Given the description of an element on the screen output the (x, y) to click on. 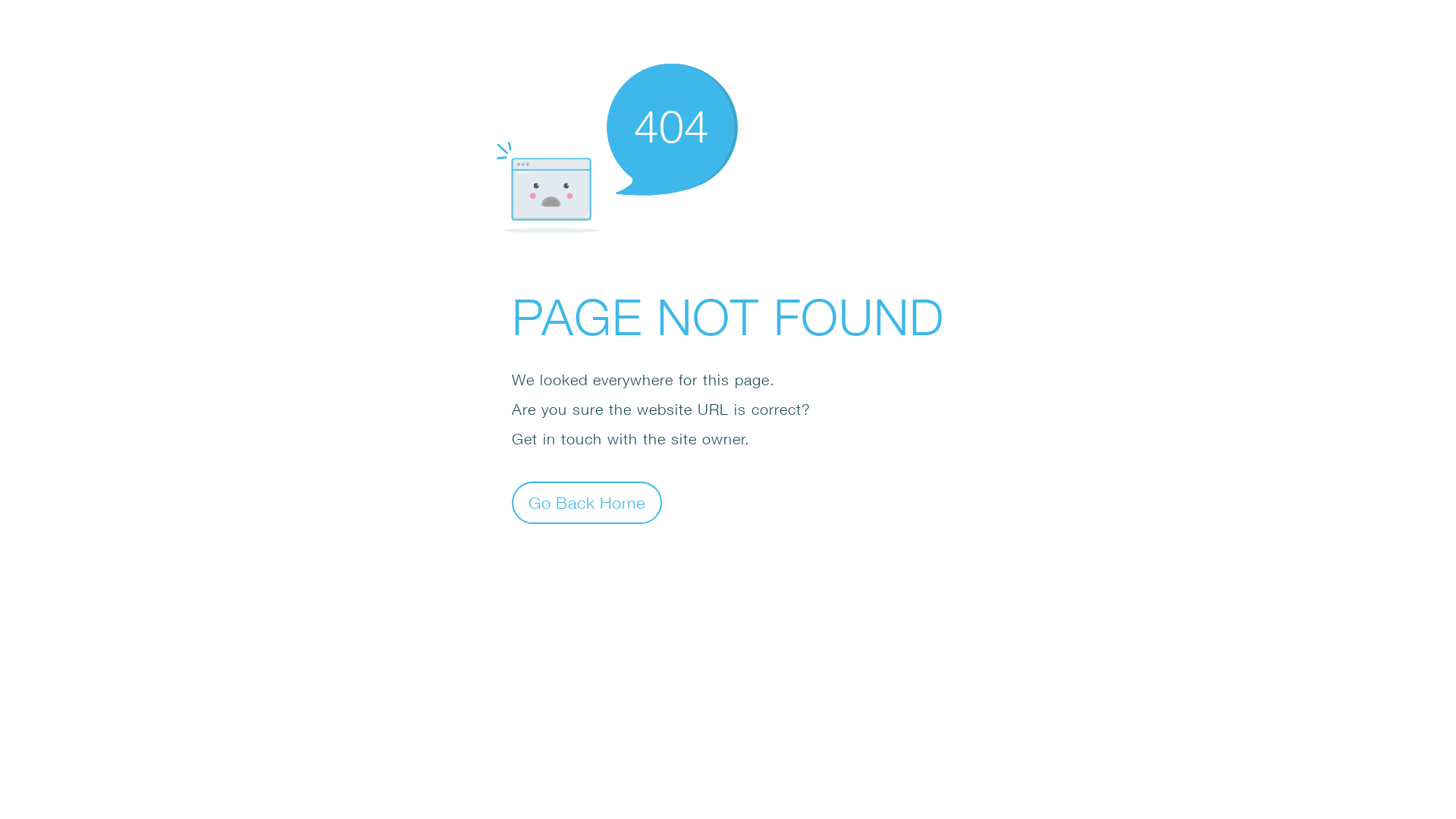
Go Back Home Element type: text (586, 502)
